Given the description of an element on the screen output the (x, y) to click on. 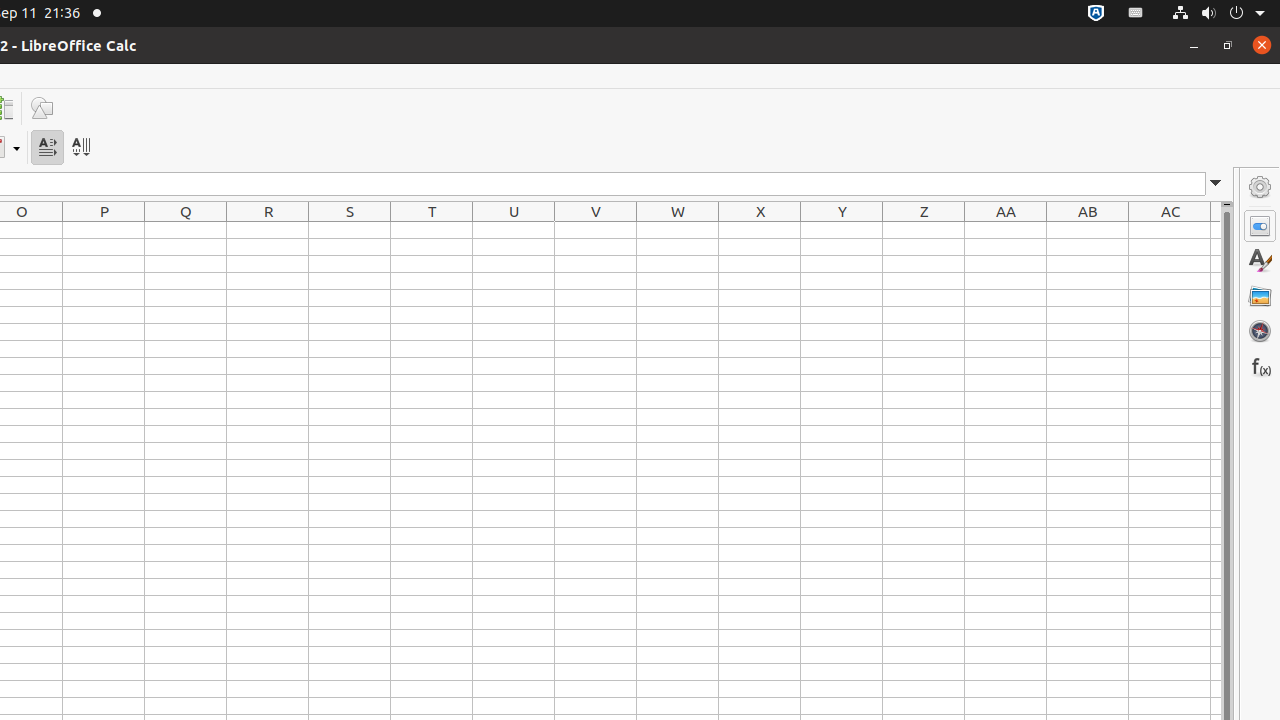
Functions Element type: radio-button (1260, 366)
P1 Element type: table-cell (104, 230)
